Given the description of an element on the screen output the (x, y) to click on. 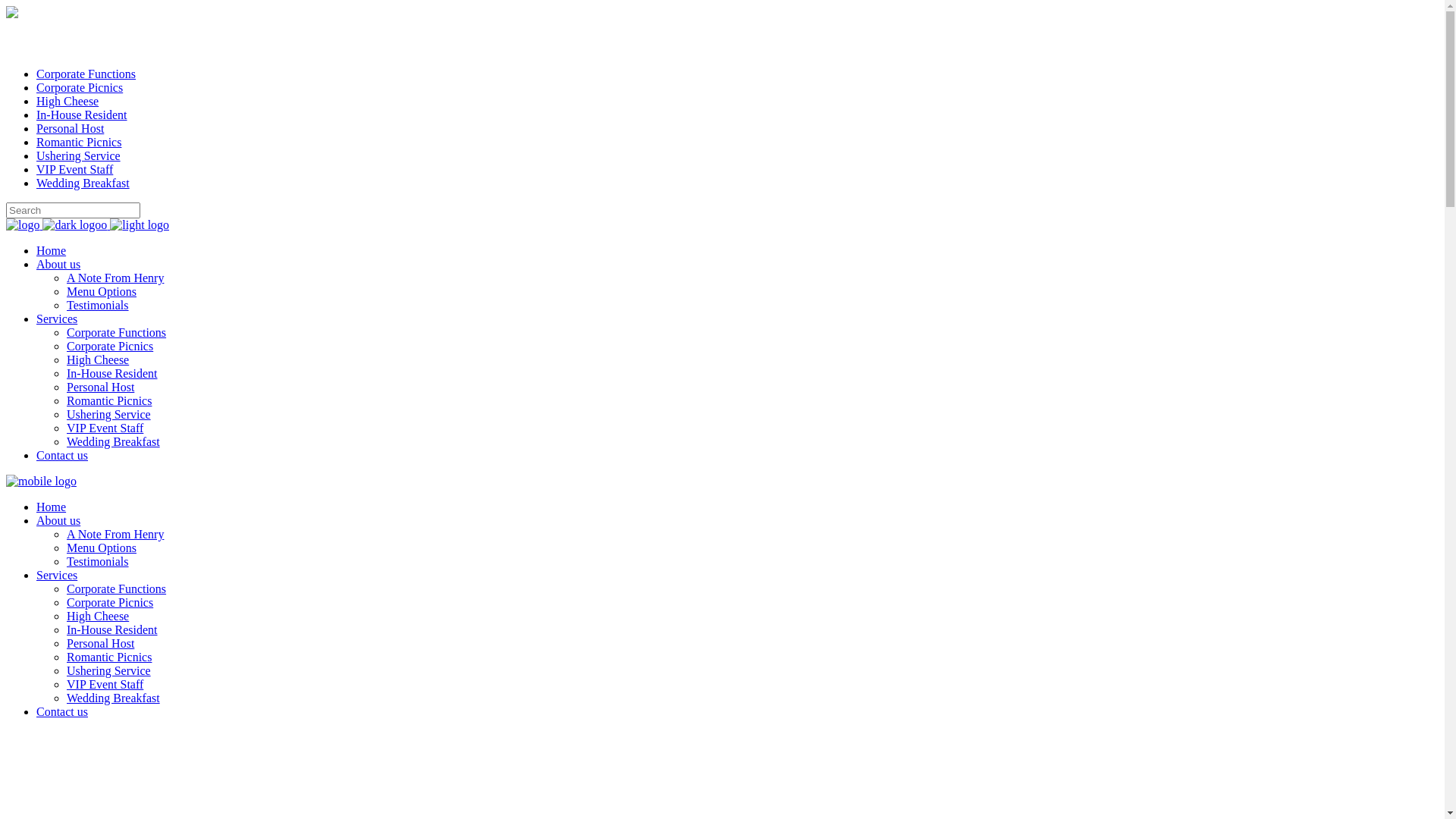
Corporate Picnics Element type: text (109, 345)
Corporate Functions Element type: text (116, 588)
VIP Event Staff Element type: text (104, 683)
Testimonials Element type: text (97, 304)
Ushering Service Element type: text (78, 155)
Corporate Functions Element type: text (85, 73)
Personal Host Element type: text (100, 386)
Wedding Breakfast Element type: text (113, 441)
In-House Resident Element type: text (111, 373)
Ushering Service Element type: text (108, 670)
Corporate Picnics Element type: text (109, 602)
Contact us Element type: text (61, 454)
Personal Host Element type: text (100, 643)
Wedding Breakfast Element type: text (113, 697)
VIP Event Staff Element type: text (104, 427)
VIP Event Staff Element type: text (74, 169)
A Note From Henry Element type: text (114, 533)
Romantic Picnics Element type: text (108, 656)
High Cheese Element type: text (67, 100)
A Note From Henry Element type: text (114, 277)
Testimonials Element type: text (97, 561)
About us Element type: text (58, 263)
Personal Host Element type: text (69, 128)
Services Element type: text (56, 318)
Services Element type: text (56, 574)
High Cheese Element type: text (97, 615)
In-House Resident Element type: text (111, 629)
Contact us Element type: text (61, 711)
Menu Options Element type: text (101, 547)
In-House Resident Element type: text (81, 114)
Romantic Picnics Element type: text (78, 141)
Romantic Picnics Element type: text (108, 400)
Home Element type: text (50, 506)
Home Element type: text (50, 250)
High Cheese Element type: text (97, 359)
Corporate Picnics Element type: text (79, 87)
Wedding Breakfast Element type: text (82, 182)
Menu Options Element type: text (101, 291)
About us Element type: text (58, 520)
Corporate Functions Element type: text (116, 332)
Ushering Service Element type: text (108, 413)
